Given the description of an element on the screen output the (x, y) to click on. 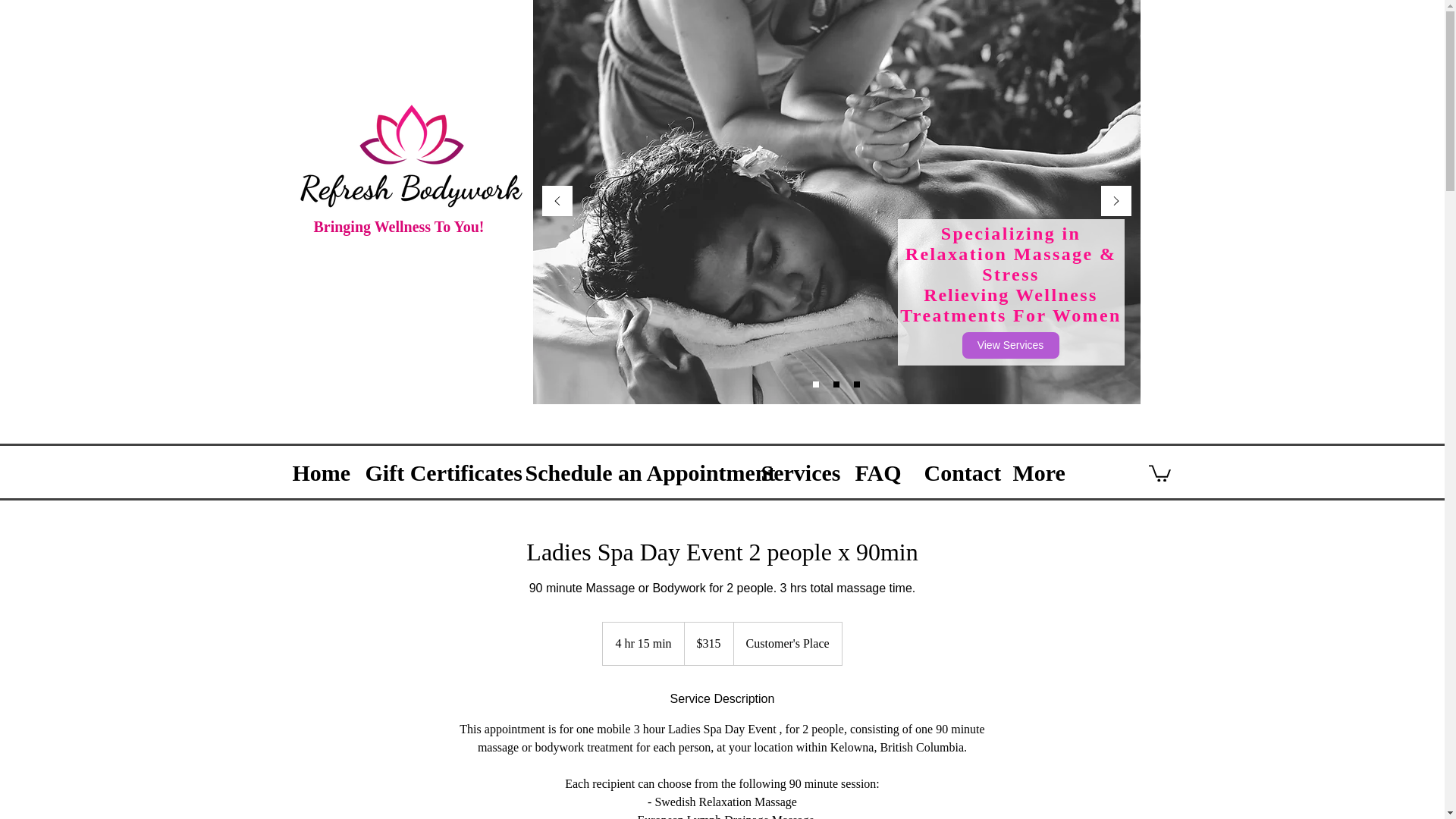
Gift Certificates (433, 468)
FAQ (877, 468)
Home (317, 468)
View Services (1009, 345)
Contact (956, 468)
Services (796, 468)
Schedule an Appointment (631, 468)
